Given the description of an element on the screen output the (x, y) to click on. 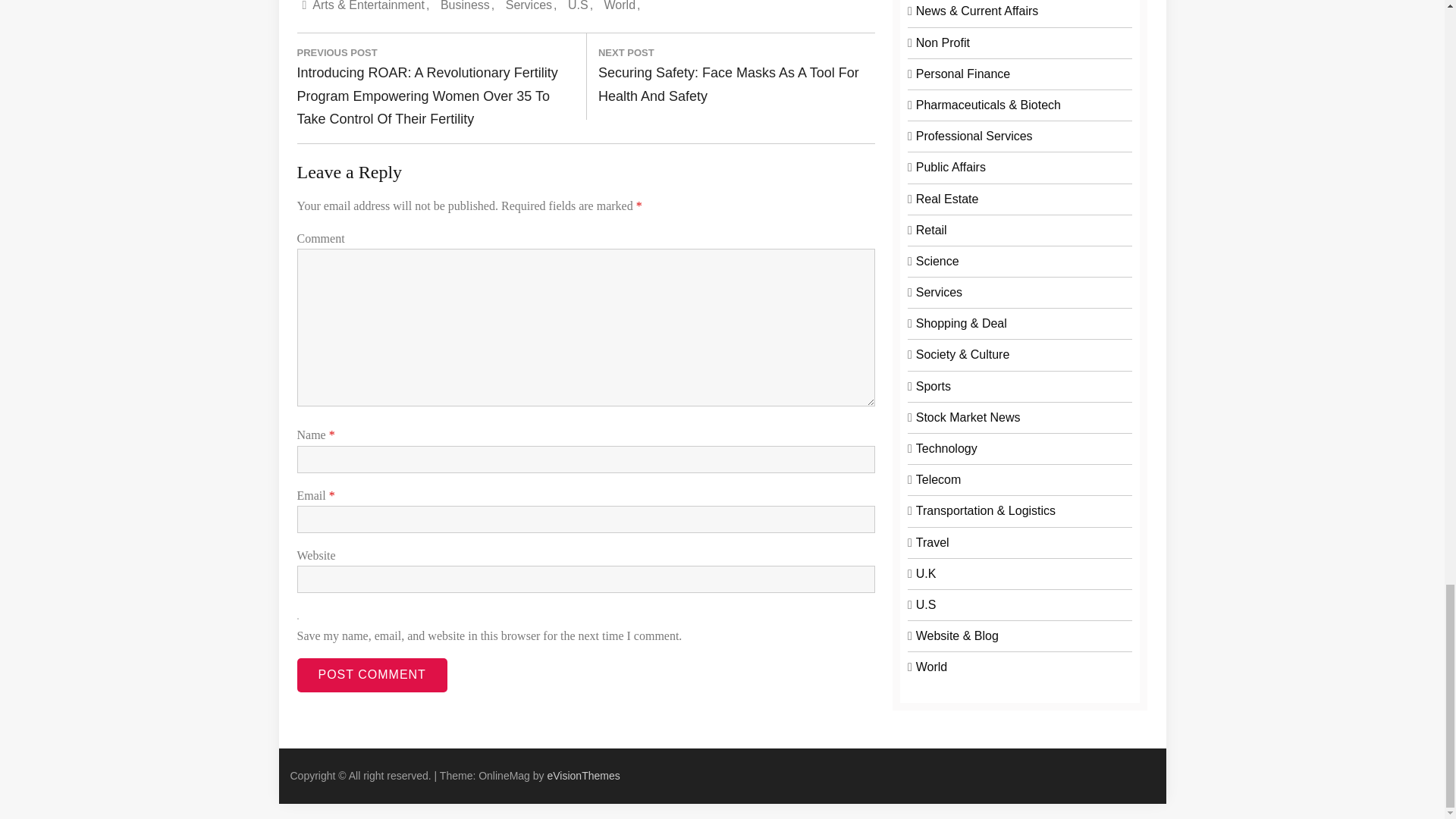
Post Comment (371, 675)
Business (467, 9)
U.S (579, 9)
Post Comment (371, 675)
World (622, 9)
Services (531, 9)
